Given the description of an element on the screen output the (x, y) to click on. 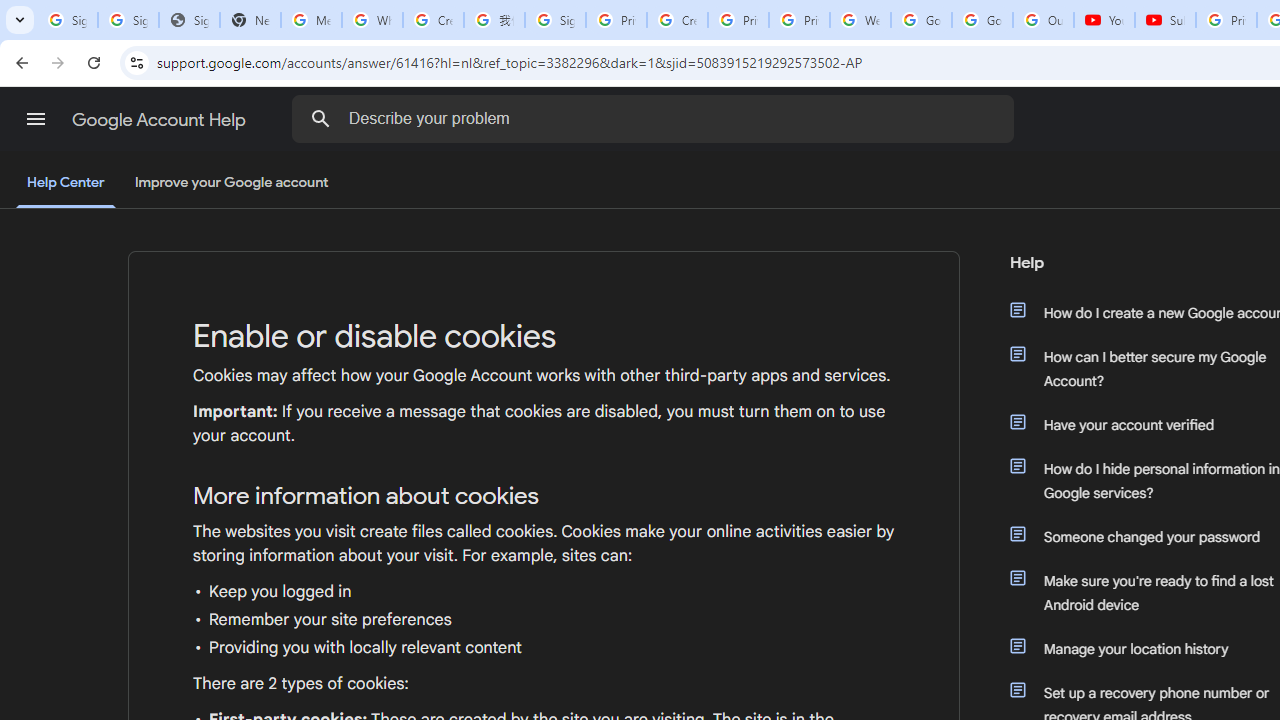
Sign in - Google Accounts (128, 20)
Subscriptions - YouTube (1165, 20)
Sign In - USA TODAY (189, 20)
Create your Google Account (676, 20)
Sign in - Google Accounts (555, 20)
Describe your problem (655, 118)
Google Account Help (160, 119)
Search the Help Center (320, 118)
Who is my administrator? - Google Account Help (372, 20)
